Given the description of an element on the screen output the (x, y) to click on. 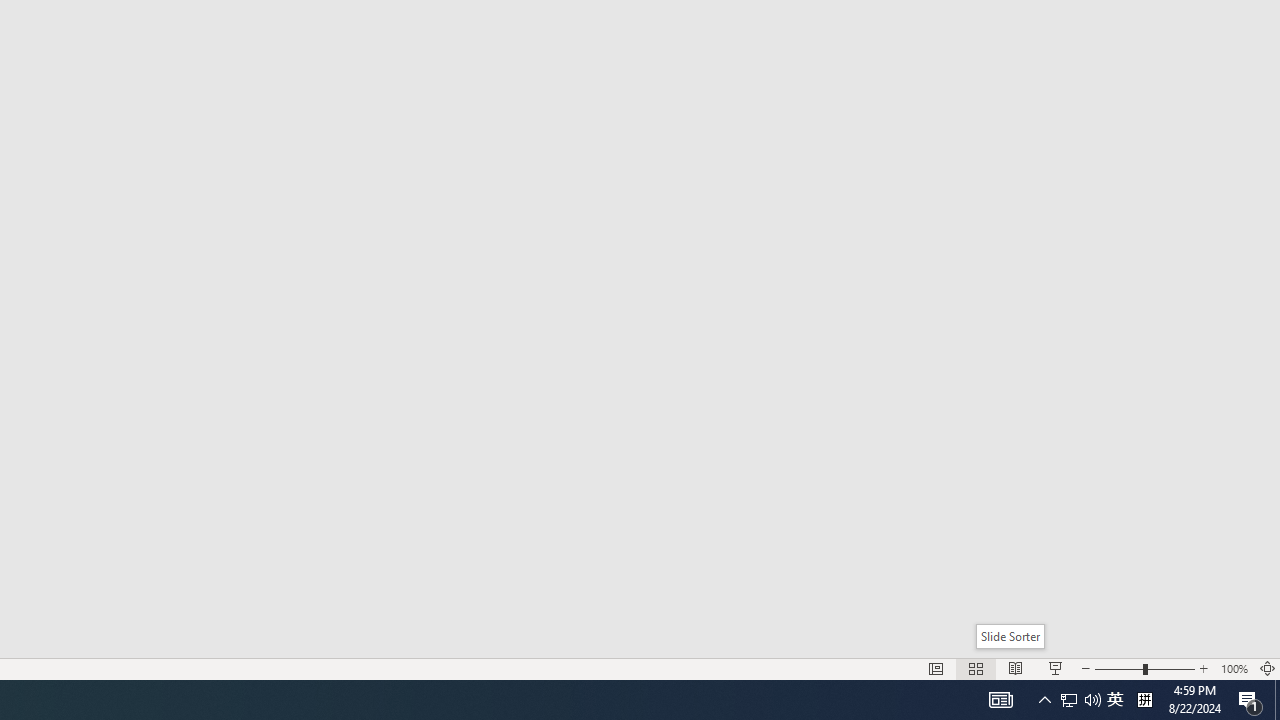
Zoom 100% (1234, 668)
